Given the description of an element on the screen output the (x, y) to click on. 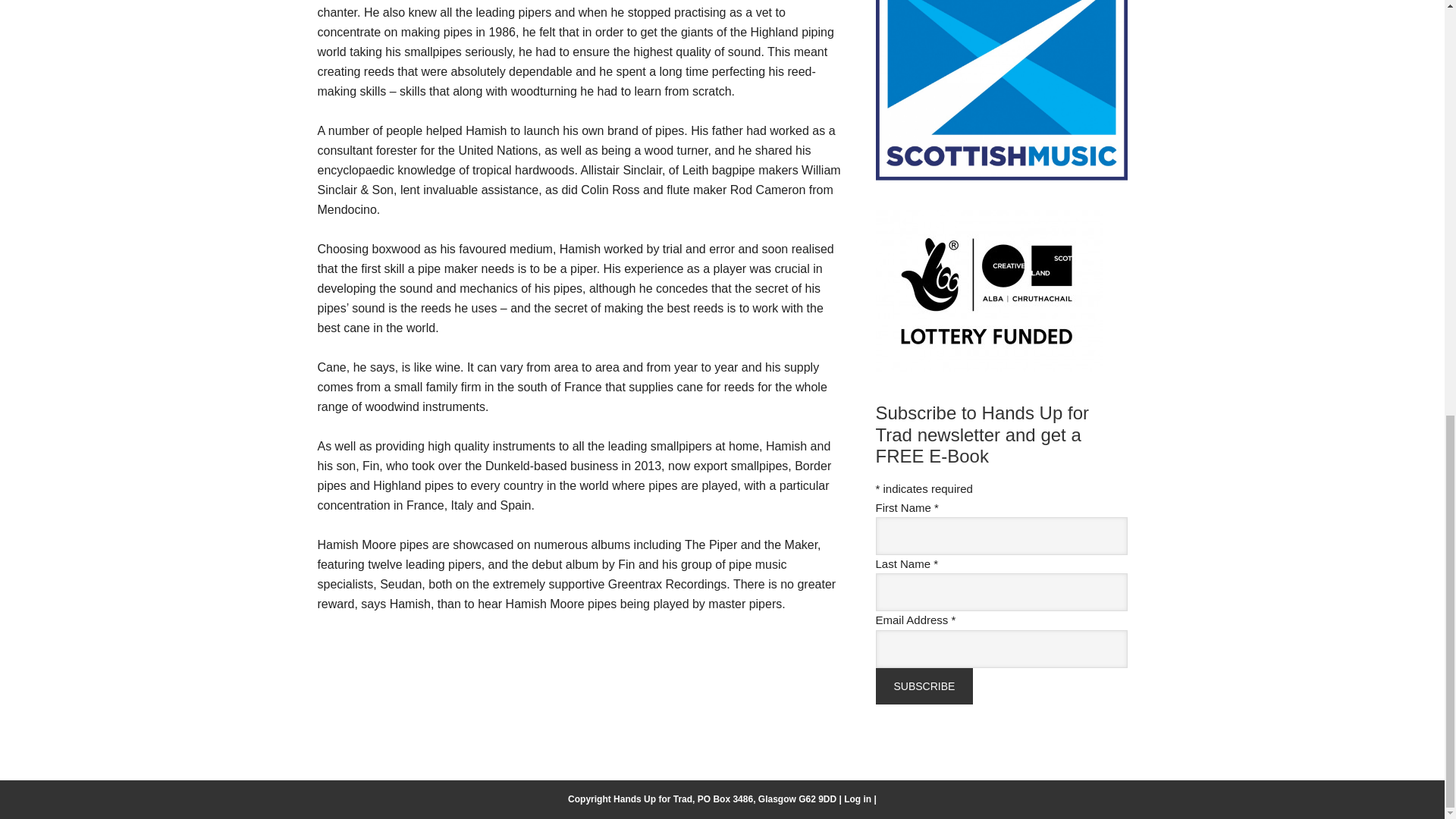
Hands Up for Trad (652, 798)
Subscribe (923, 686)
Subscribe (923, 686)
Log in (857, 798)
